Given the description of an element on the screen output the (x, y) to click on. 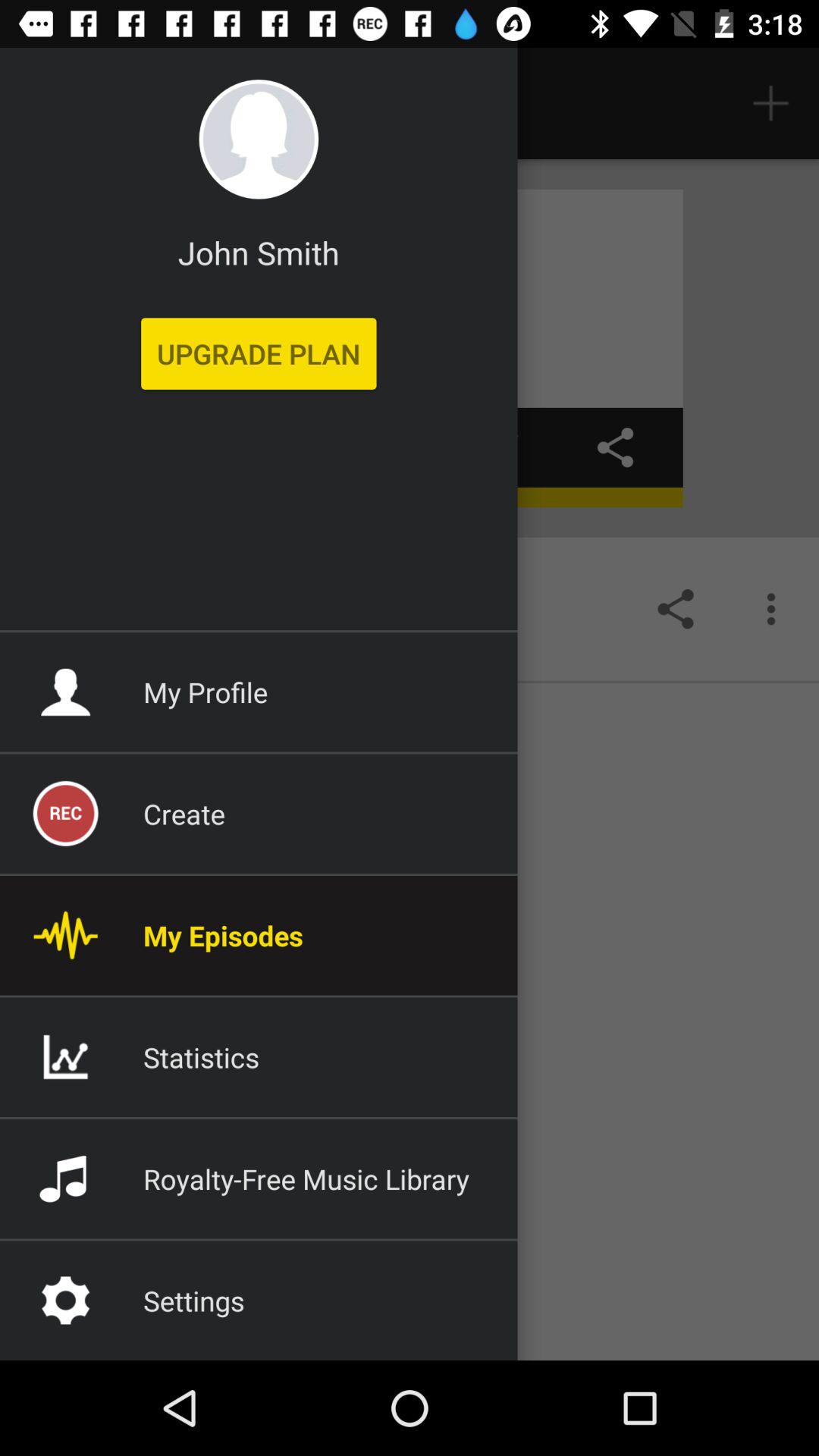
move to icon which is above the john smith (258, 139)
select the icon which to the left side of statistics option (65, 1056)
select a share button which is before more option (675, 608)
select music icon which is above the settings on the left corner of the screen (65, 1178)
